Given the description of an element on the screen output the (x, y) to click on. 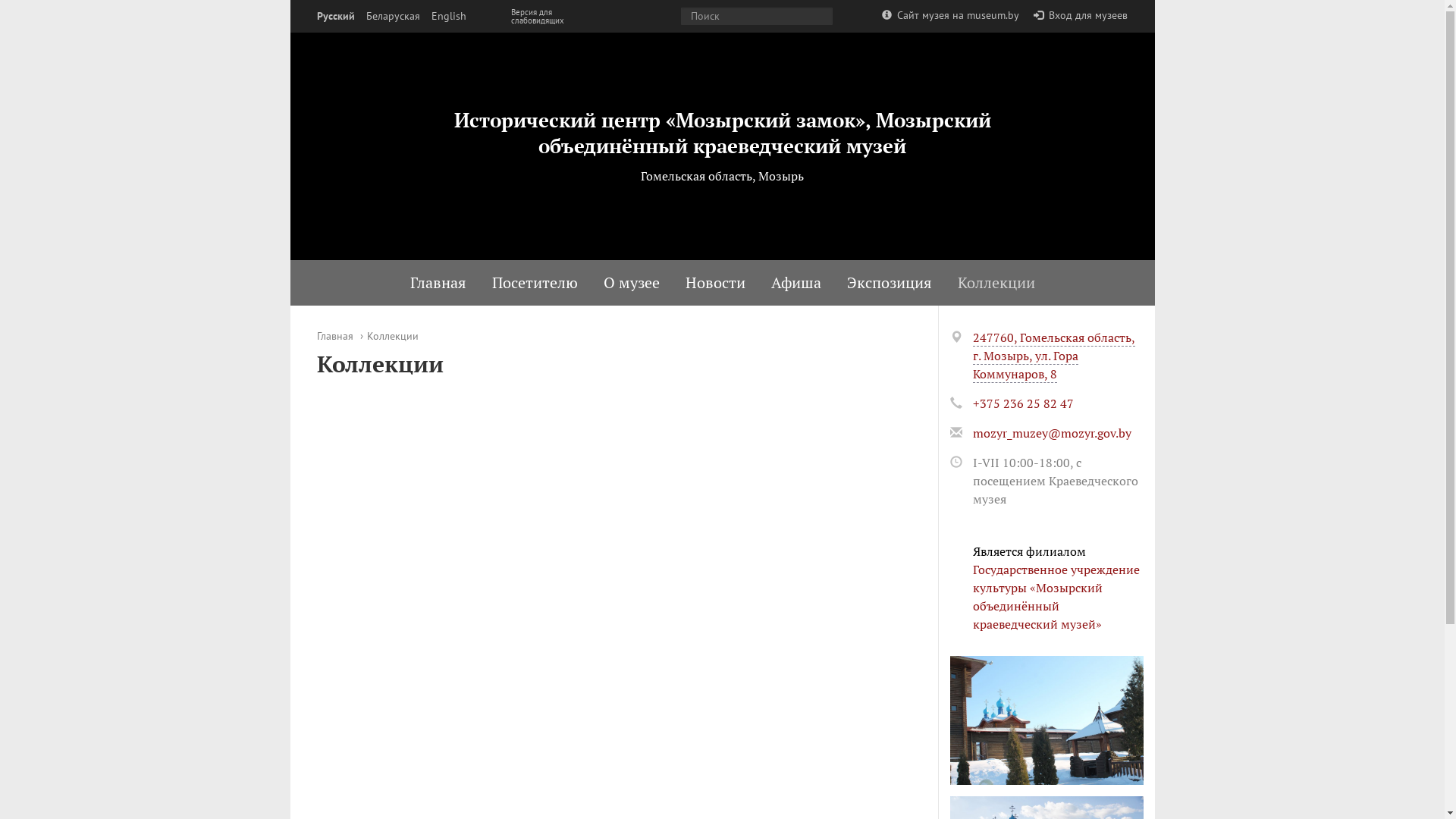
English Element type: text (447, 16)
+375 236 25 82 47 Element type: text (1022, 403)
mozyr_muzey@mozyr.gov.by Element type: text (1051, 432)
